Given the description of an element on the screen output the (x, y) to click on. 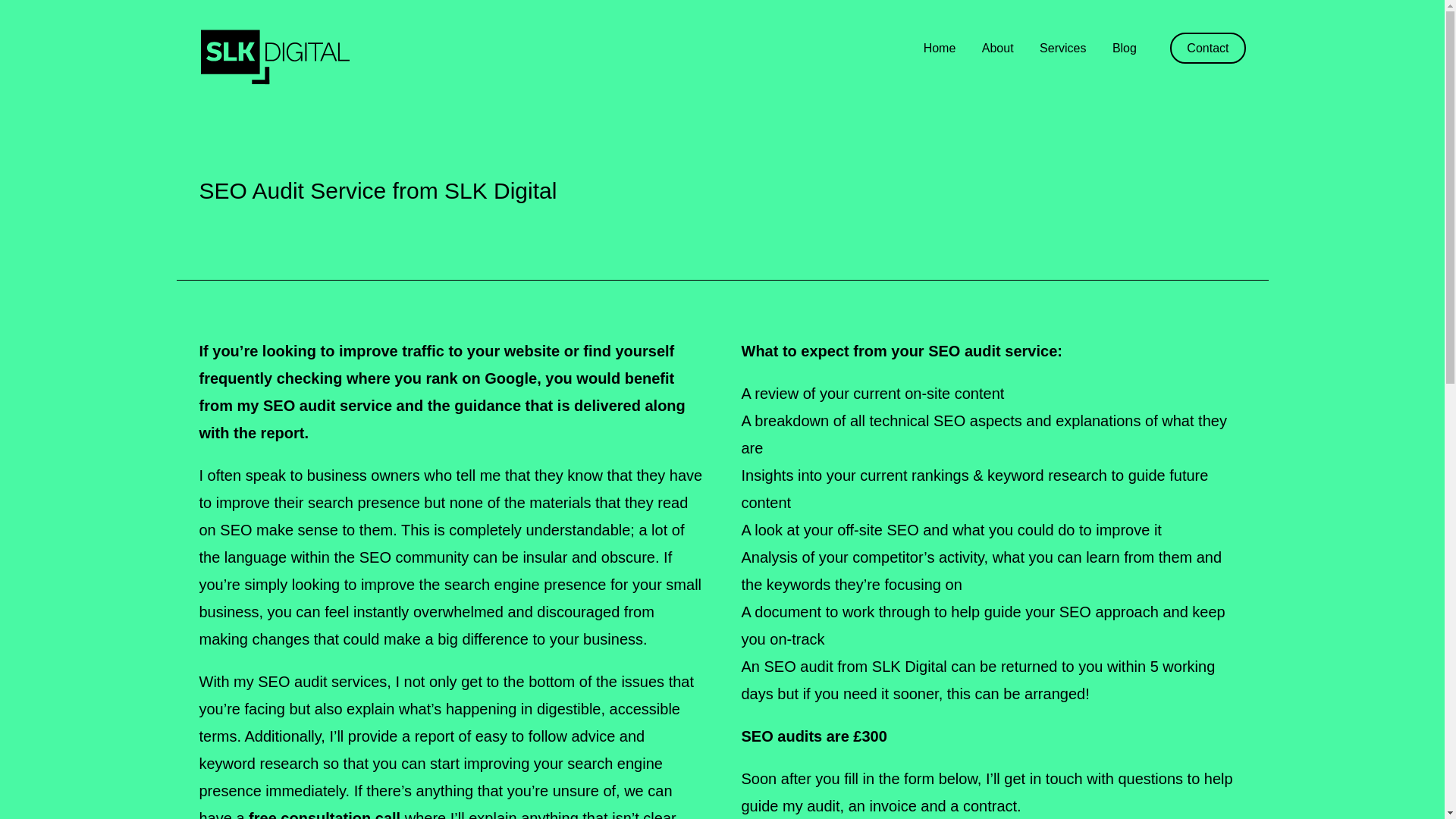
SEO audit (796, 666)
Home (939, 47)
keyword research (258, 763)
Services (1062, 47)
About (997, 47)
Contact (1207, 47)
Blog (1124, 47)
